Given the description of an element on the screen output the (x, y) to click on. 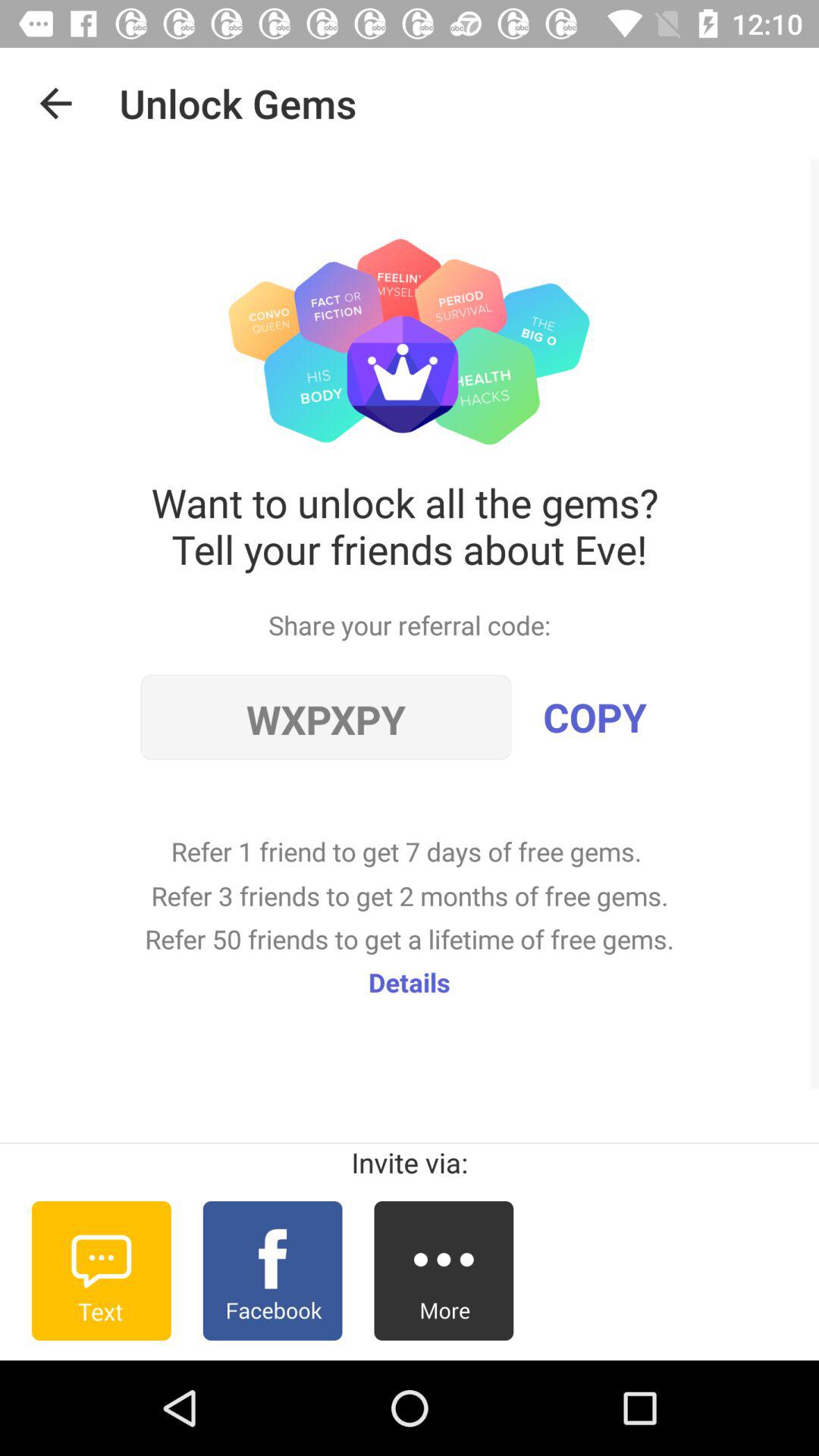
jump to the details (409, 981)
